Given the description of an element on the screen output the (x, y) to click on. 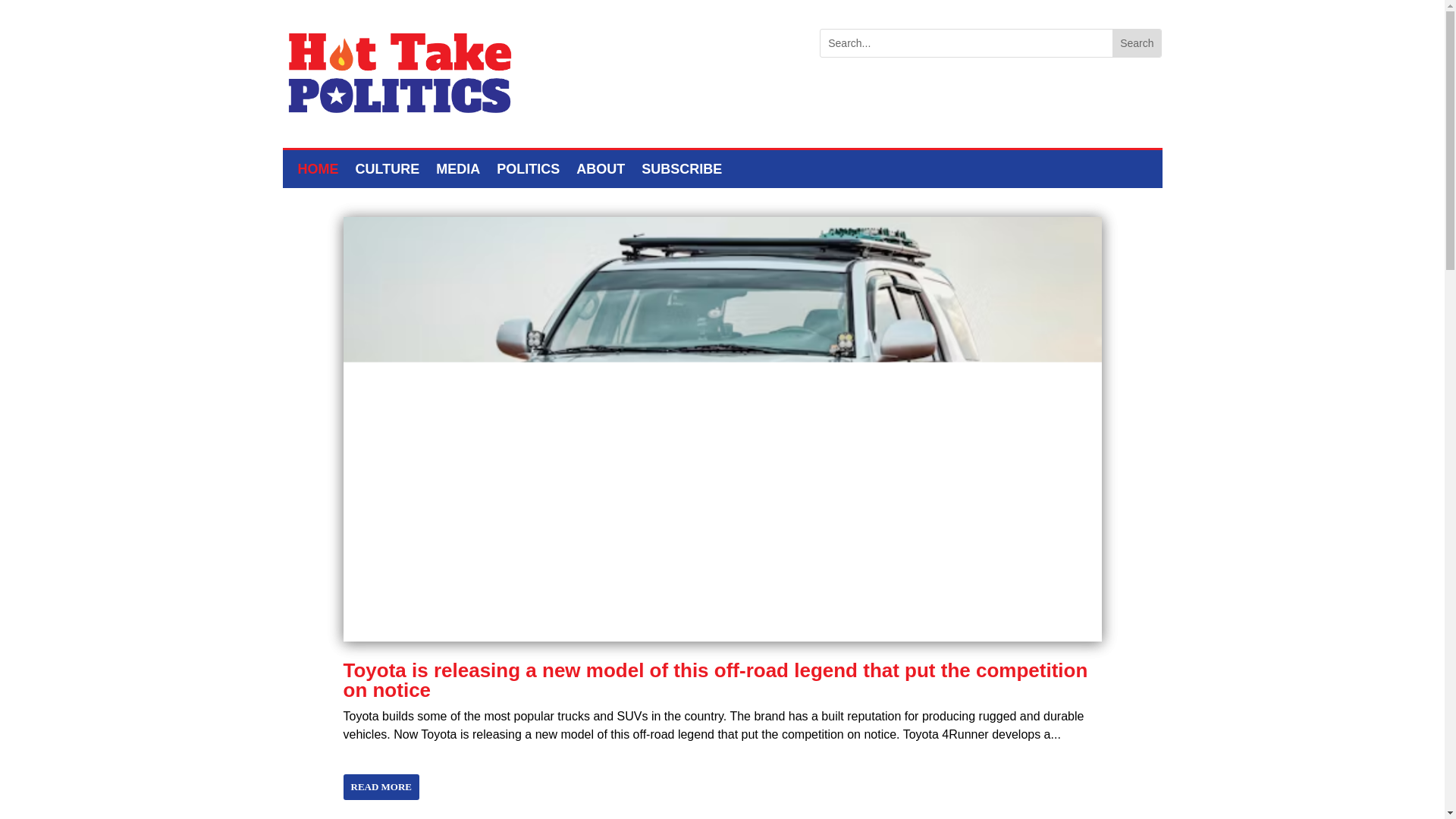
Search (1136, 42)
MEDIA (457, 171)
Search (1136, 42)
Search (1136, 42)
POLITICS (527, 171)
SUBSCRIBE (682, 171)
CULTURE (387, 171)
Hot Take Politcs final art larger (399, 72)
ABOUT (600, 171)
